Given the description of an element on the screen output the (x, y) to click on. 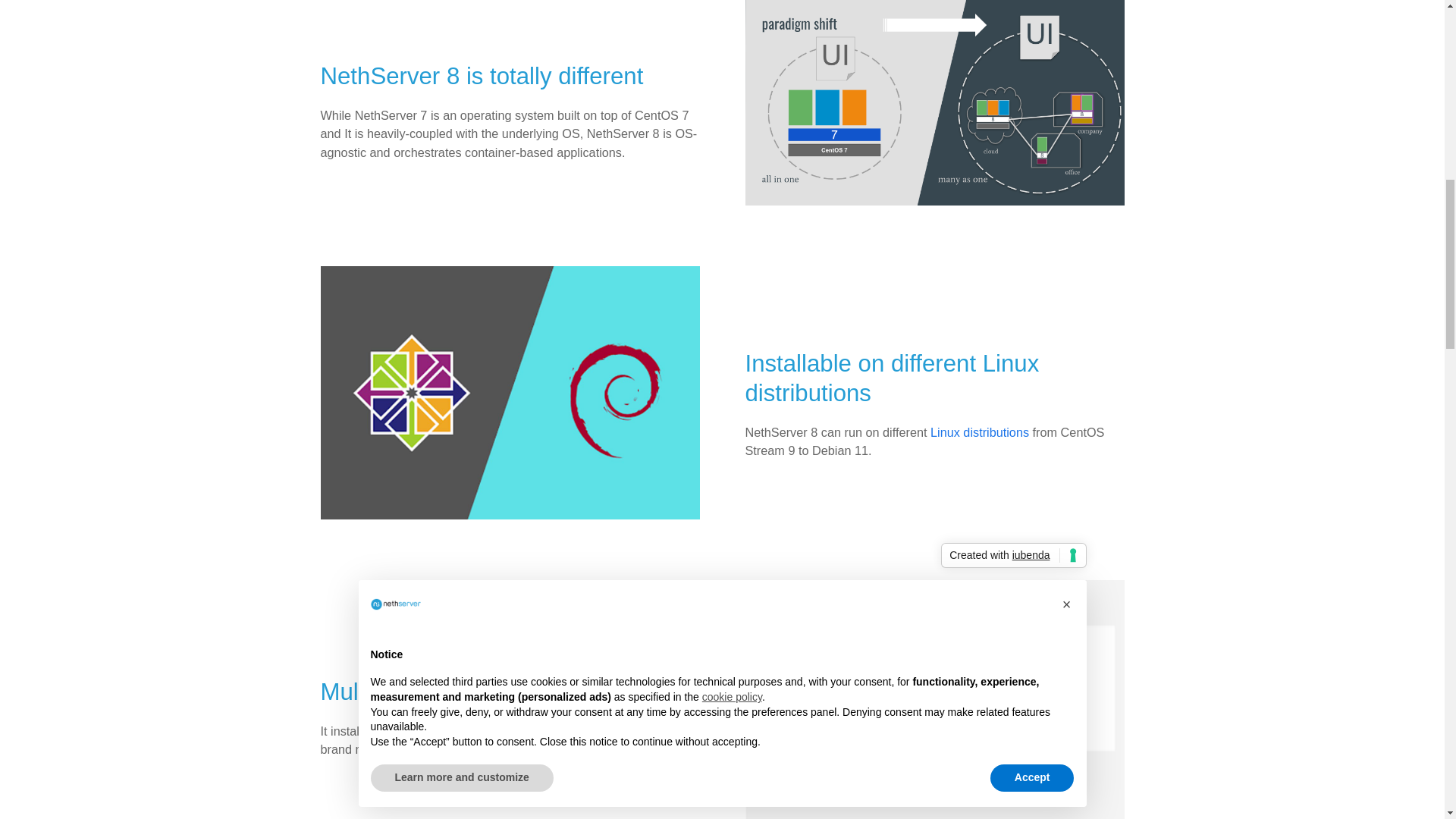
Linux distributions (979, 431)
